Given the description of an element on the screen output the (x, y) to click on. 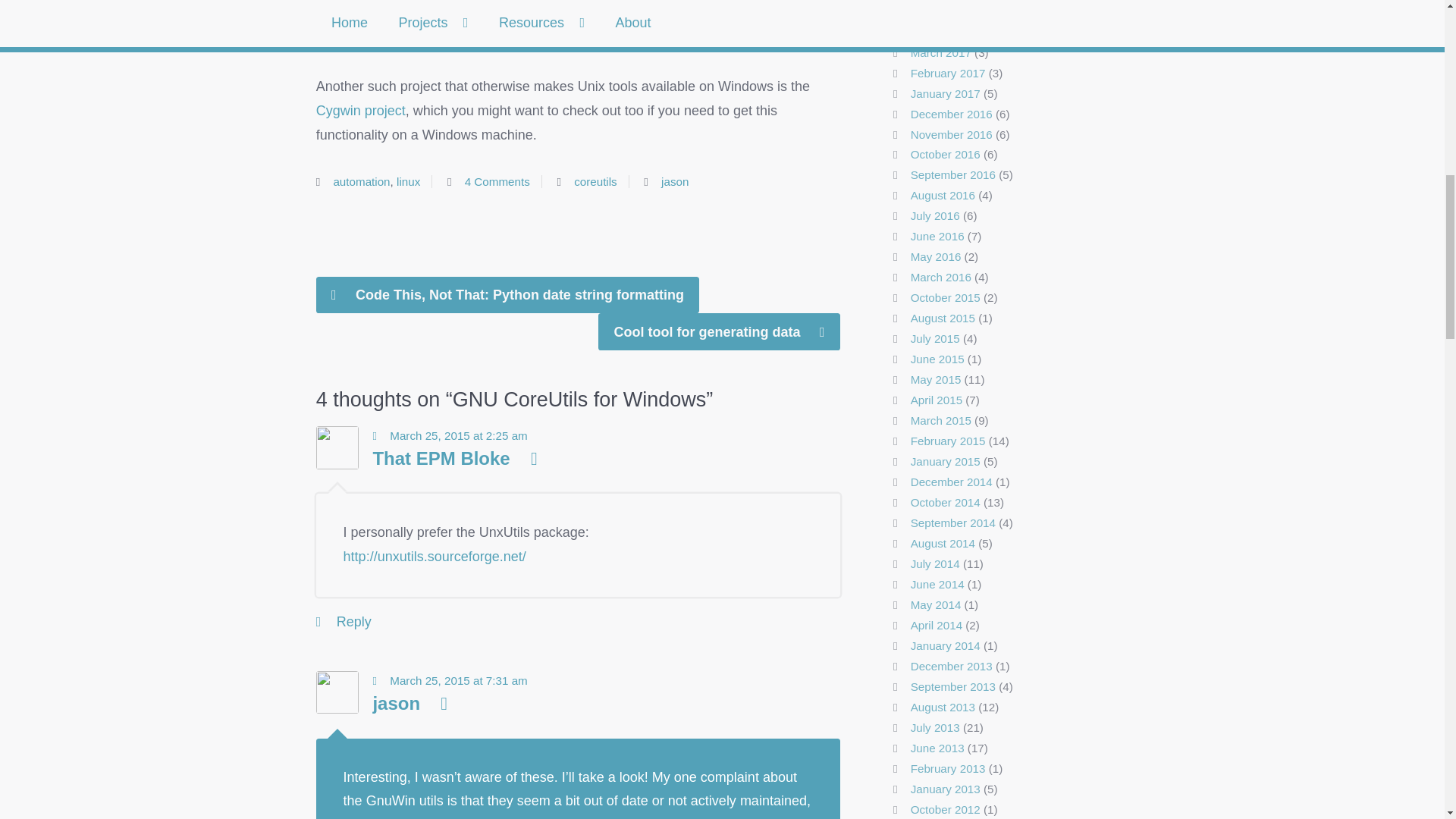
Posts by jason (674, 181)
Cygwin project (360, 110)
automation (361, 181)
